Given the description of an element on the screen output the (x, y) to click on. 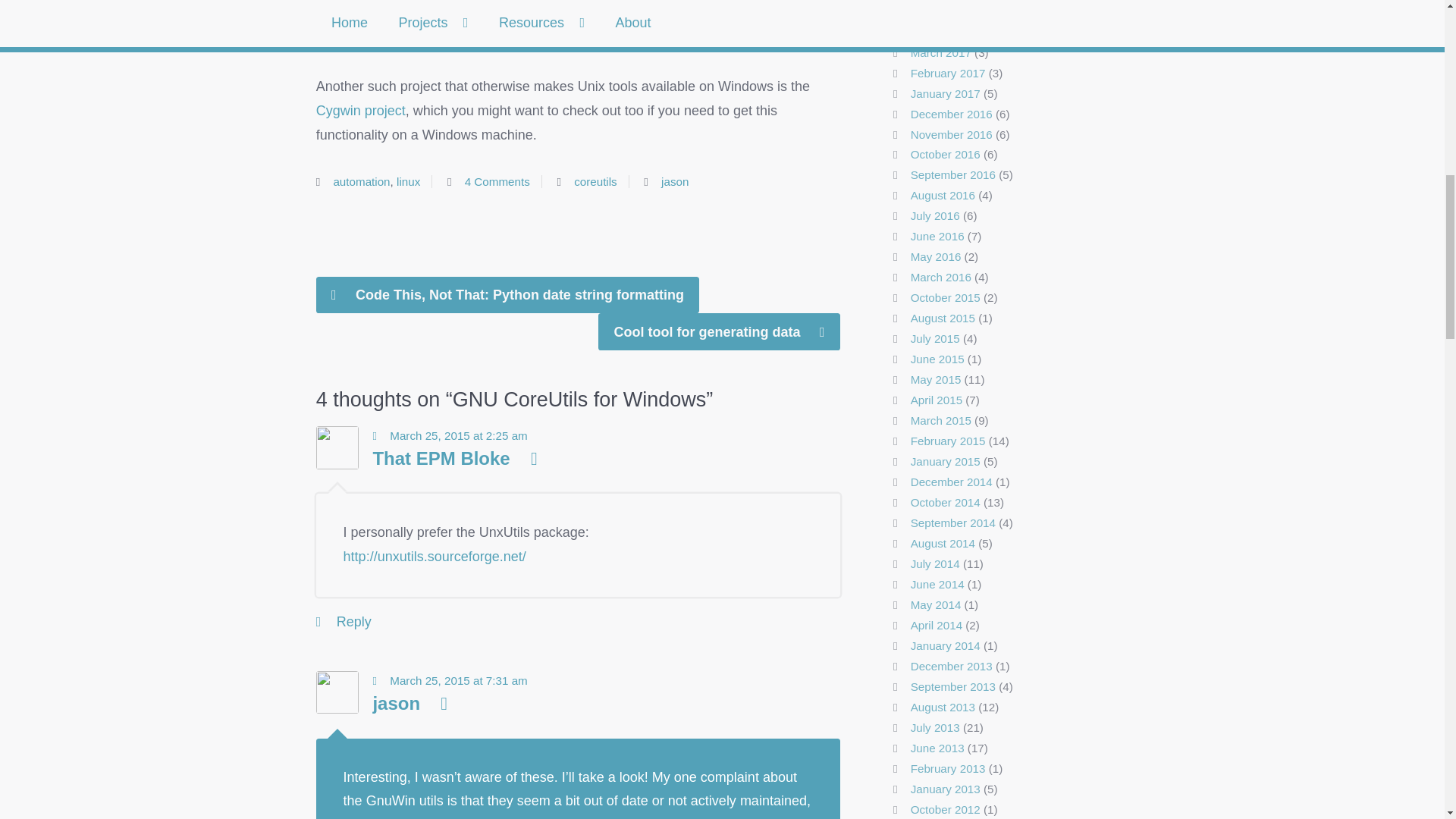
Posts by jason (674, 181)
Cygwin project (360, 110)
automation (361, 181)
